Given the description of an element on the screen output the (x, y) to click on. 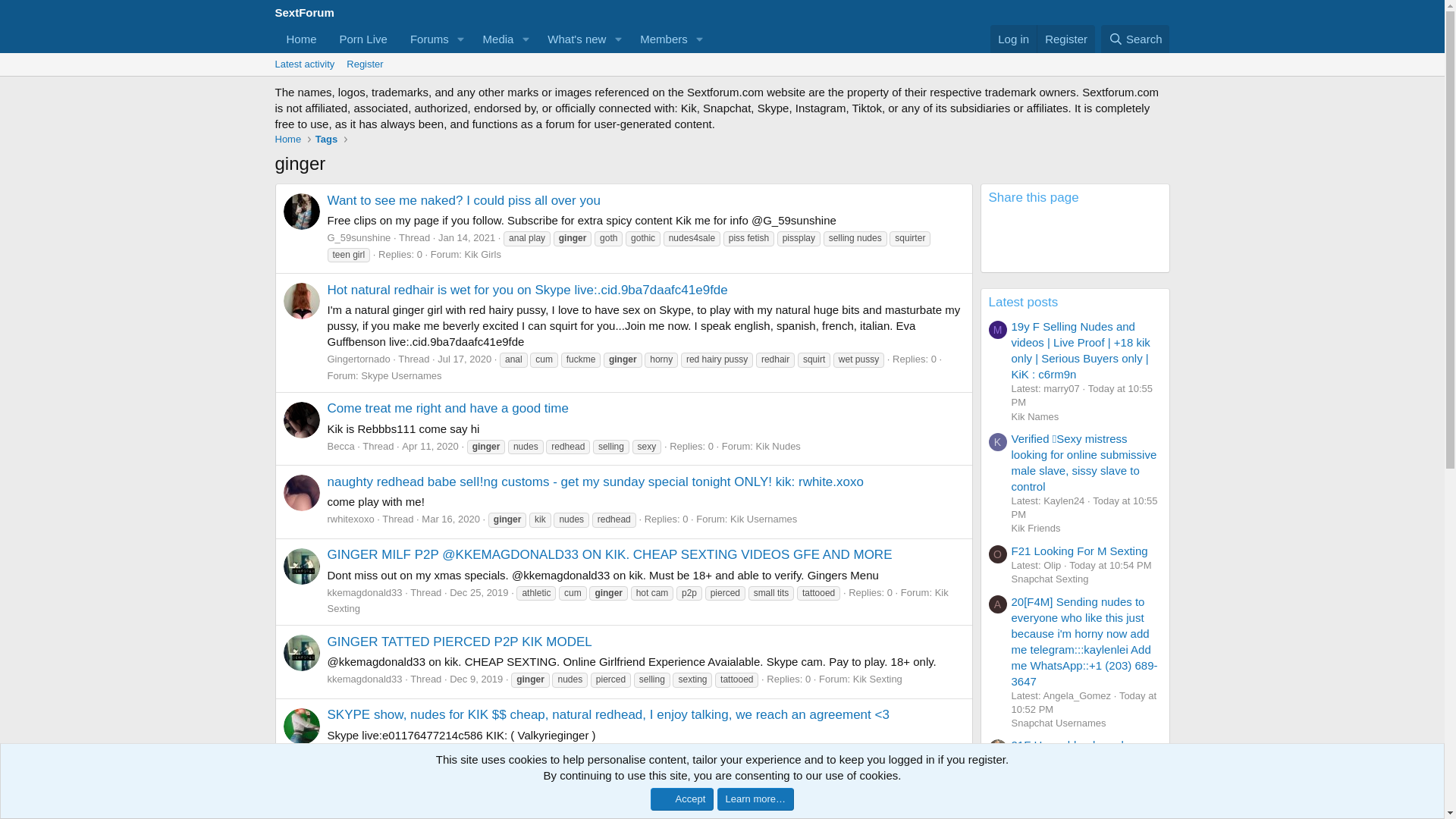
Apr 11, 2020 at 1:12 AM (429, 446)
Media (493, 39)
Jul 16, 2024 at 10:52 PM (1084, 702)
Search (1135, 39)
Home (491, 39)
Jan 14, 2021 at 3:01 PM (301, 39)
Feb 9, 2019 at 2:31 AM (720, 81)
SextForum (466, 237)
Members (474, 751)
Log in (304, 11)
Porn Live (658, 39)
Dec 9, 2019 at 7:03 PM (1013, 39)
Mar 16, 2020 at 2:11 AM (363, 39)
